Given the description of an element on the screen output the (x, y) to click on. 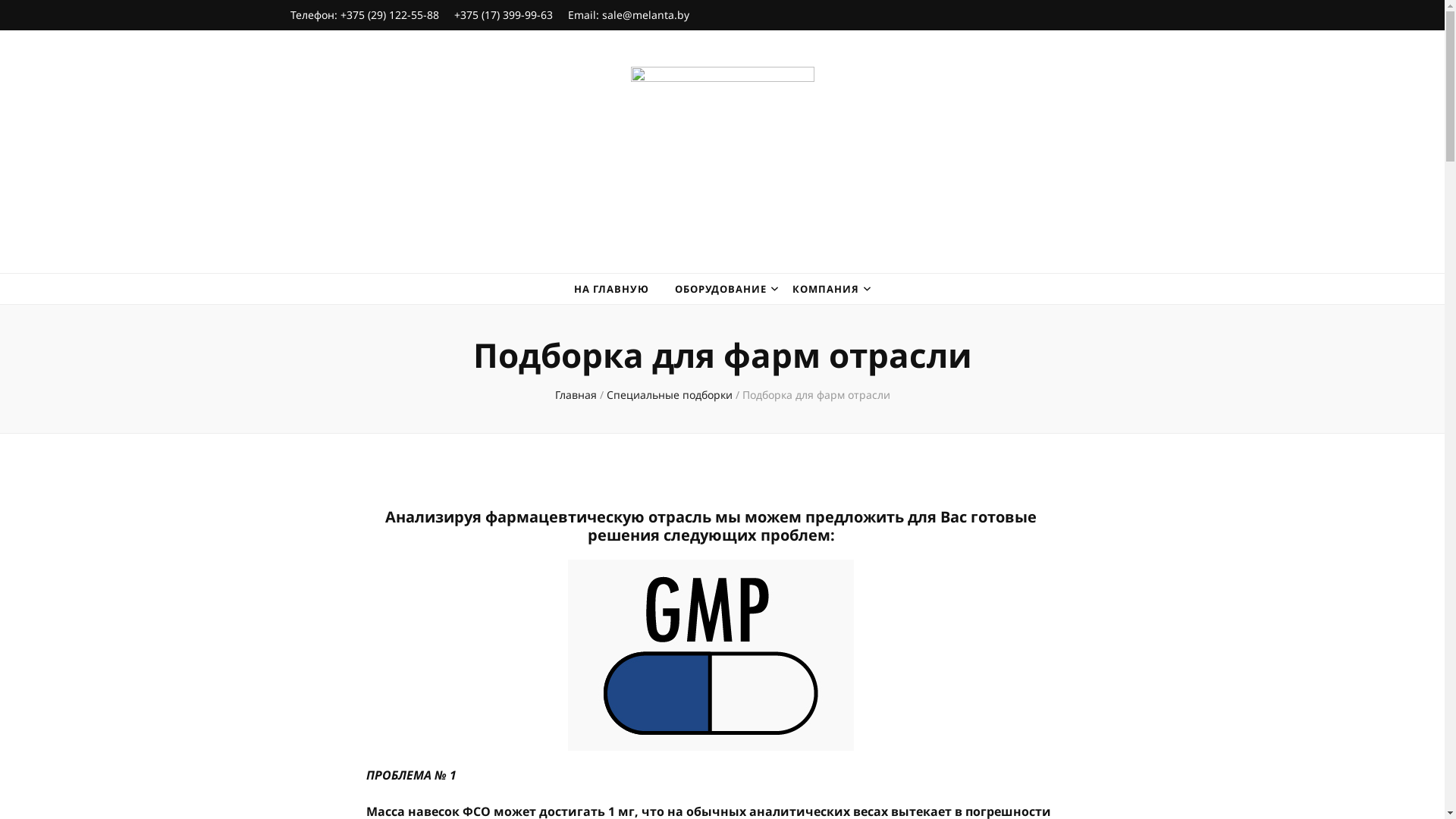
Email: sale@melanta.by Element type: text (627, 15)
+375 (17) 399-99-63 Element type: text (502, 15)
